Given the description of an element on the screen output the (x, y) to click on. 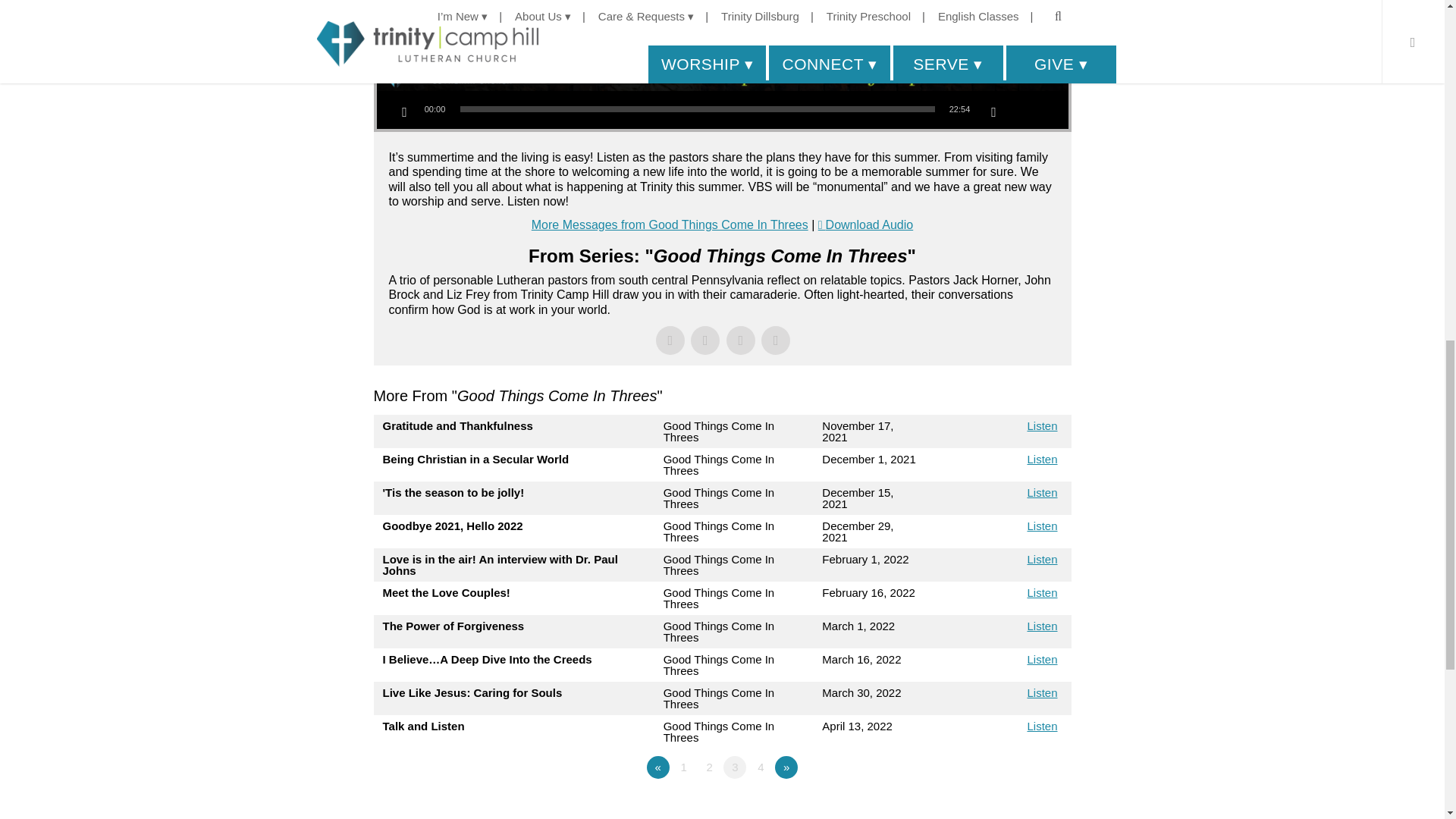
Mute (993, 111)
Play (404, 111)
